Given the description of an element on the screen output the (x, y) to click on. 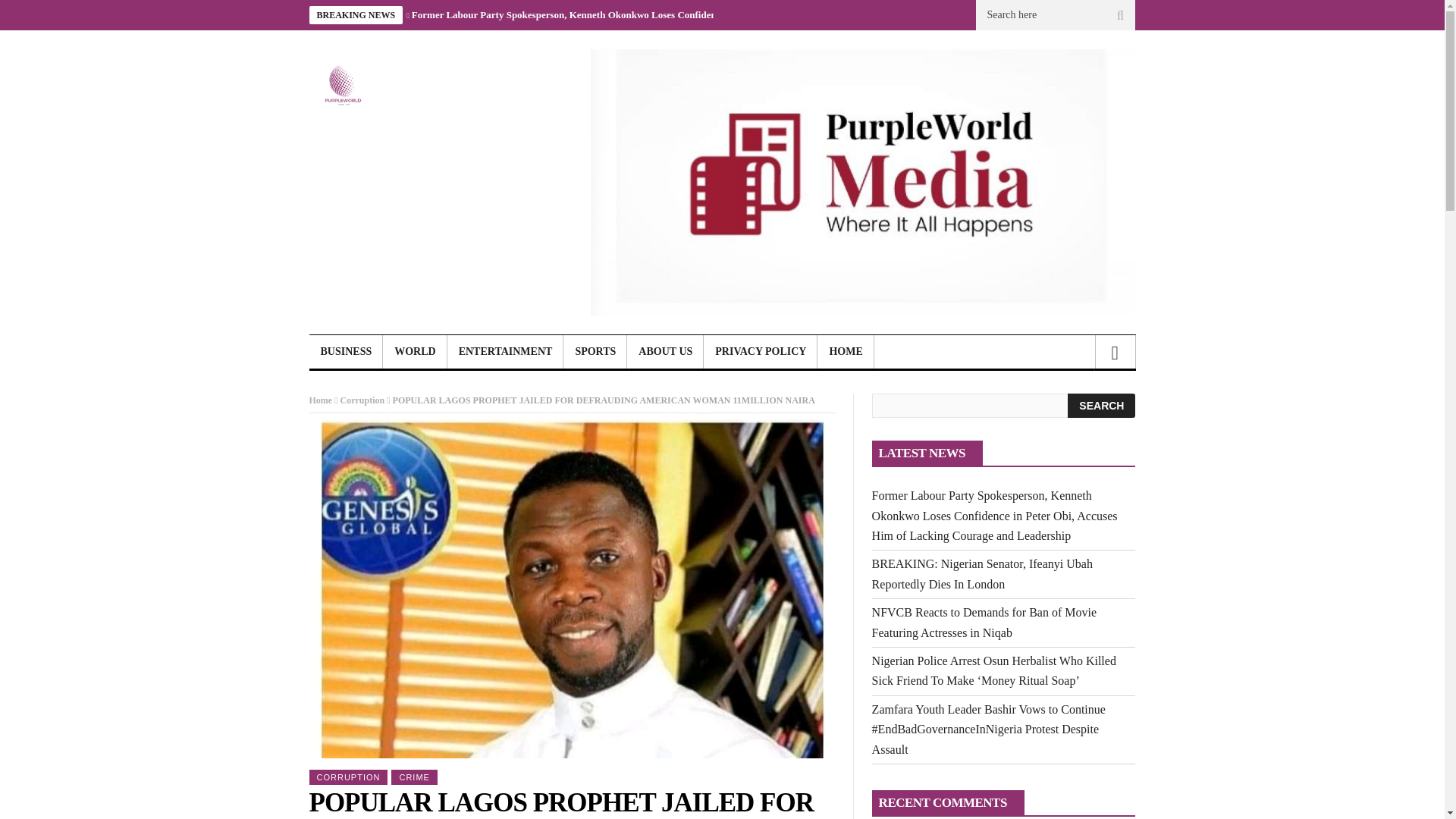
ENTERTAINMENT (505, 351)
BUSINESS (346, 351)
Search (1101, 405)
SPORTS (595, 351)
WORLD (414, 351)
PRIVACY POLICY (759, 351)
HOME (844, 351)
ABOUT US (665, 351)
